Given the description of an element on the screen output the (x, y) to click on. 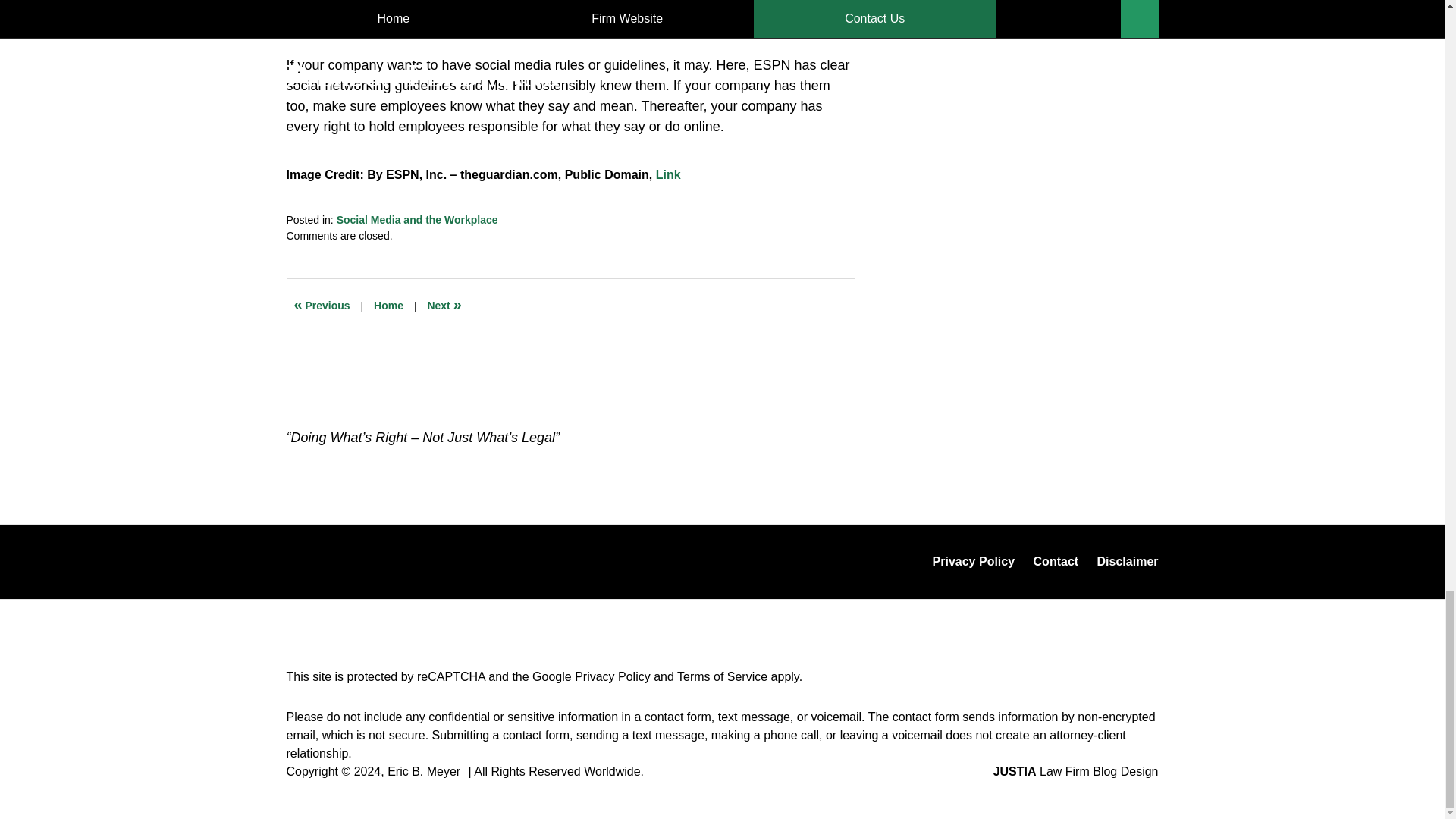
Social Media and the Workplace (416, 219)
Privacy Policy (612, 676)
Eric B. Meyer (423, 771)
Privacy Policy (973, 561)
Home (388, 306)
Disclaimer (1127, 561)
Contact (1056, 561)
View all posts in Social Media and the Workplace (416, 219)
Terms of Service (722, 676)
Link (668, 174)
